Given the description of an element on the screen output the (x, y) to click on. 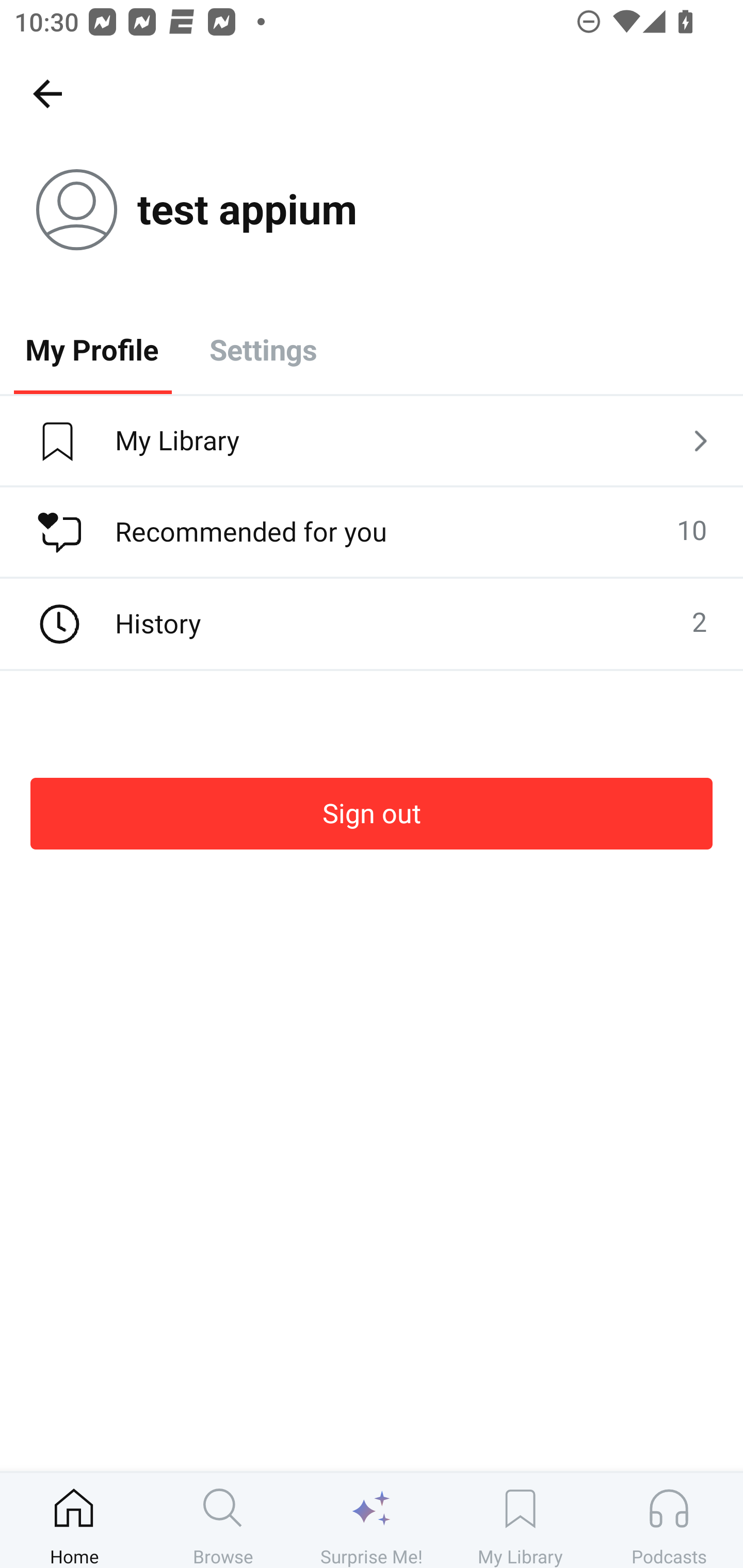
Home, back (47, 92)
My Profile (92, 348)
Settings (263, 348)
My Library (371, 441)
Recommended for you 10 (371, 532)
History 2 (371, 623)
Sign out (371, 813)
Home (74, 1520)
Browse (222, 1520)
Surprise Me! (371, 1520)
My Library (519, 1520)
Podcasts (668, 1520)
